Given the description of an element on the screen output the (x, y) to click on. 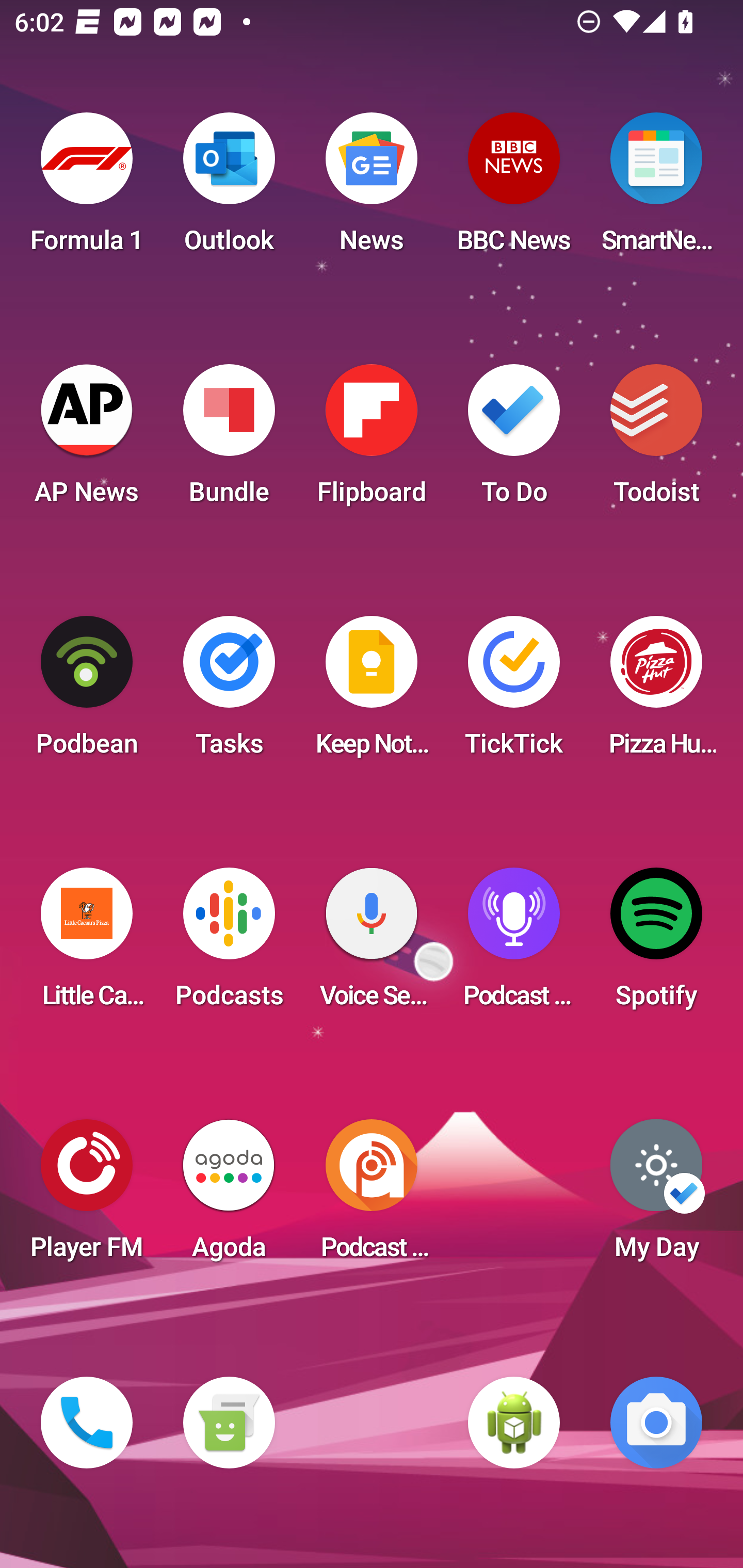
Formula 1 (86, 188)
Outlook (228, 188)
News (371, 188)
BBC News (513, 188)
SmartNews (656, 188)
AP News (86, 440)
Bundle (228, 440)
Flipboard (371, 440)
To Do (513, 440)
Todoist (656, 440)
Podbean (86, 692)
Tasks (228, 692)
Keep Notes (371, 692)
TickTick (513, 692)
Pizza Hut HK & Macau (656, 692)
Little Caesars Pizza (86, 943)
Podcasts (228, 943)
Voice Search (371, 943)
Podcast Player (513, 943)
Spotify (656, 943)
Player FM (86, 1195)
Agoda (228, 1195)
Podcast Addict (371, 1195)
My Day (656, 1195)
Phone (86, 1422)
Messaging (228, 1422)
WebView Browser Tester (513, 1422)
Camera (656, 1422)
